Given the description of an element on the screen output the (x, y) to click on. 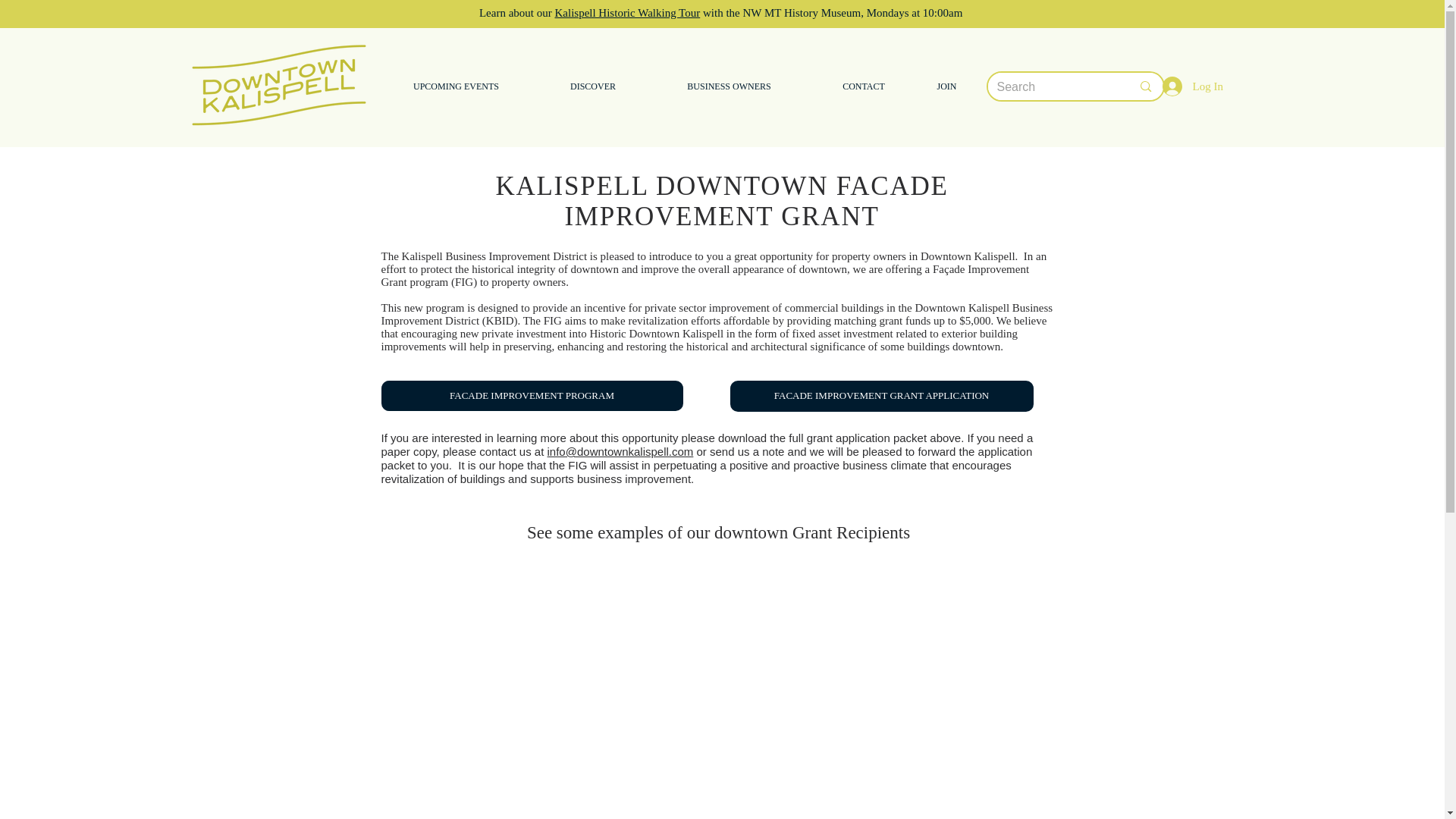
FACADE IMPROVEMENT PROGRAM (531, 395)
Kalispell Historic Walking Tour (627, 12)
FACADE IMPROVEMENT GRANT APPLICATION (880, 395)
Log In (1174, 86)
UPCOMING EVENTS (455, 86)
CONTACT (863, 86)
JOIN (946, 86)
